Given the description of an element on the screen output the (x, y) to click on. 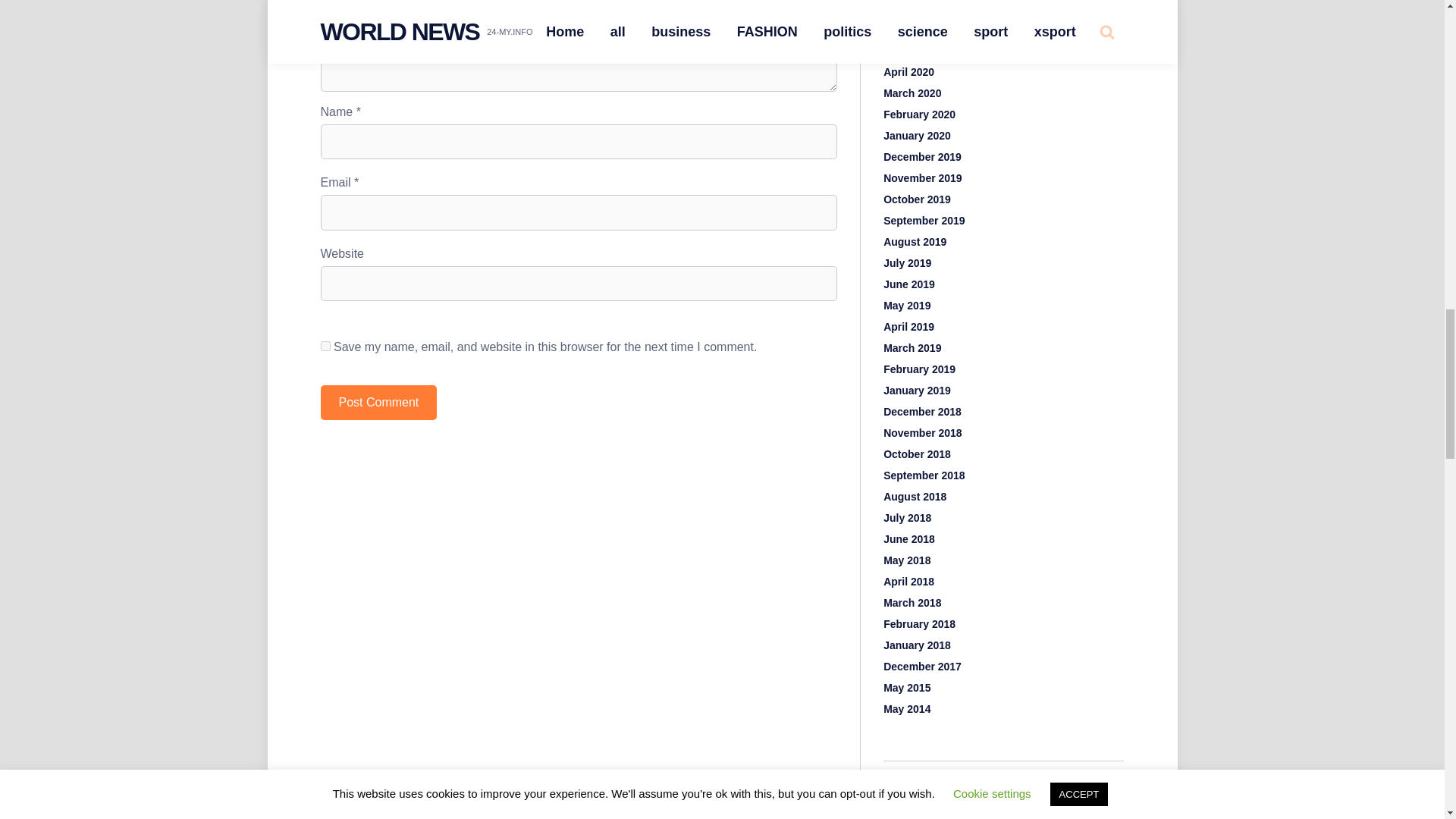
Post Comment (378, 402)
yes (325, 346)
Post Comment (378, 402)
